Given the description of an element on the screen output the (x, y) to click on. 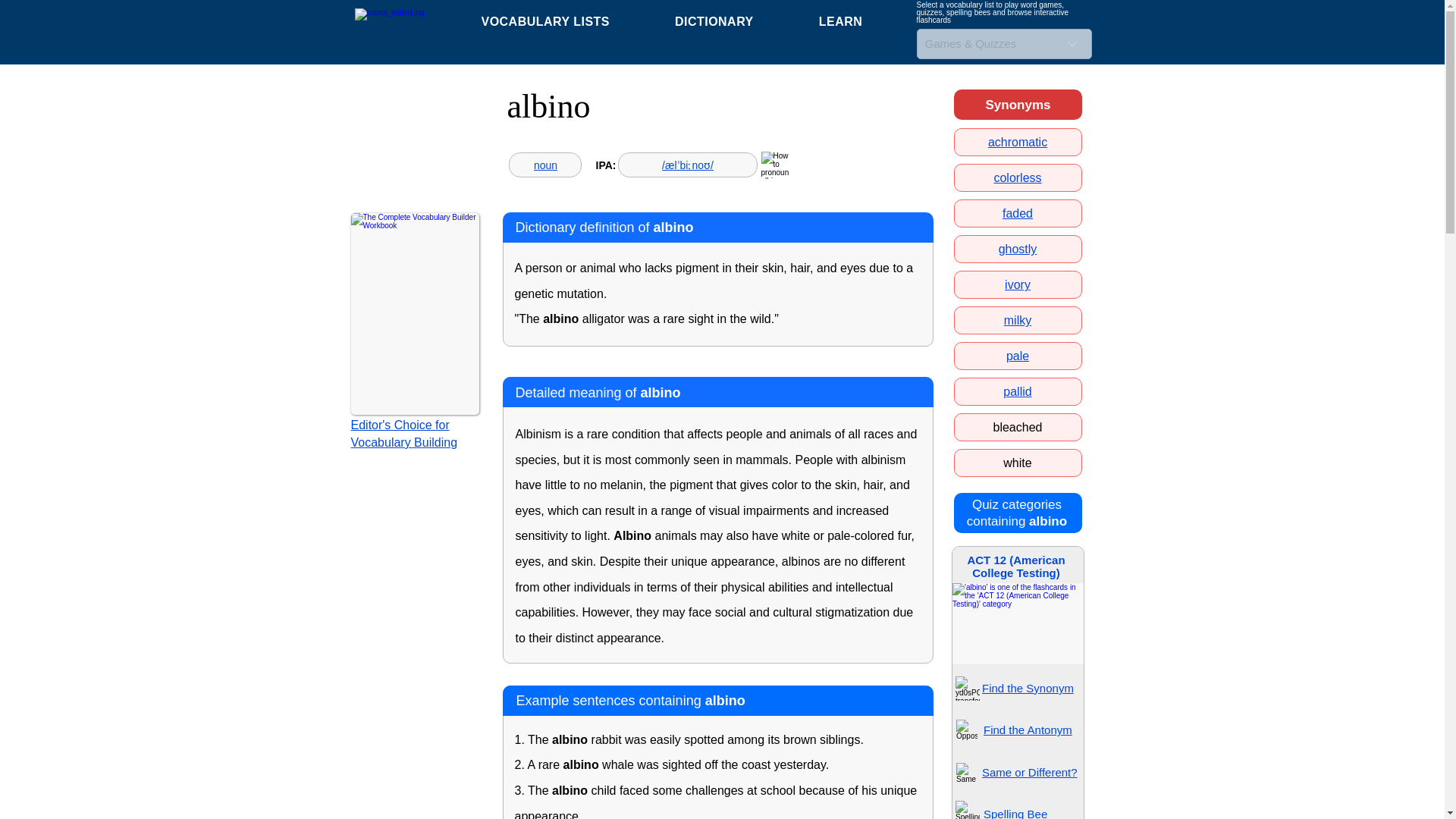
ivory (1017, 284)
Opposite Words Quiz (966, 730)
Explore 'pallid' on the dictionary page (692, 21)
Explore 'ghostly' on the dictionary page (1016, 391)
Explore 'achromatic' on the dictionary page (1017, 248)
pale (1017, 141)
Same or Different? (1017, 355)
Explore 'faded' on the dictionary page (1029, 771)
Spelling Bee (1017, 213)
